Given the description of an element on the screen output the (x, y) to click on. 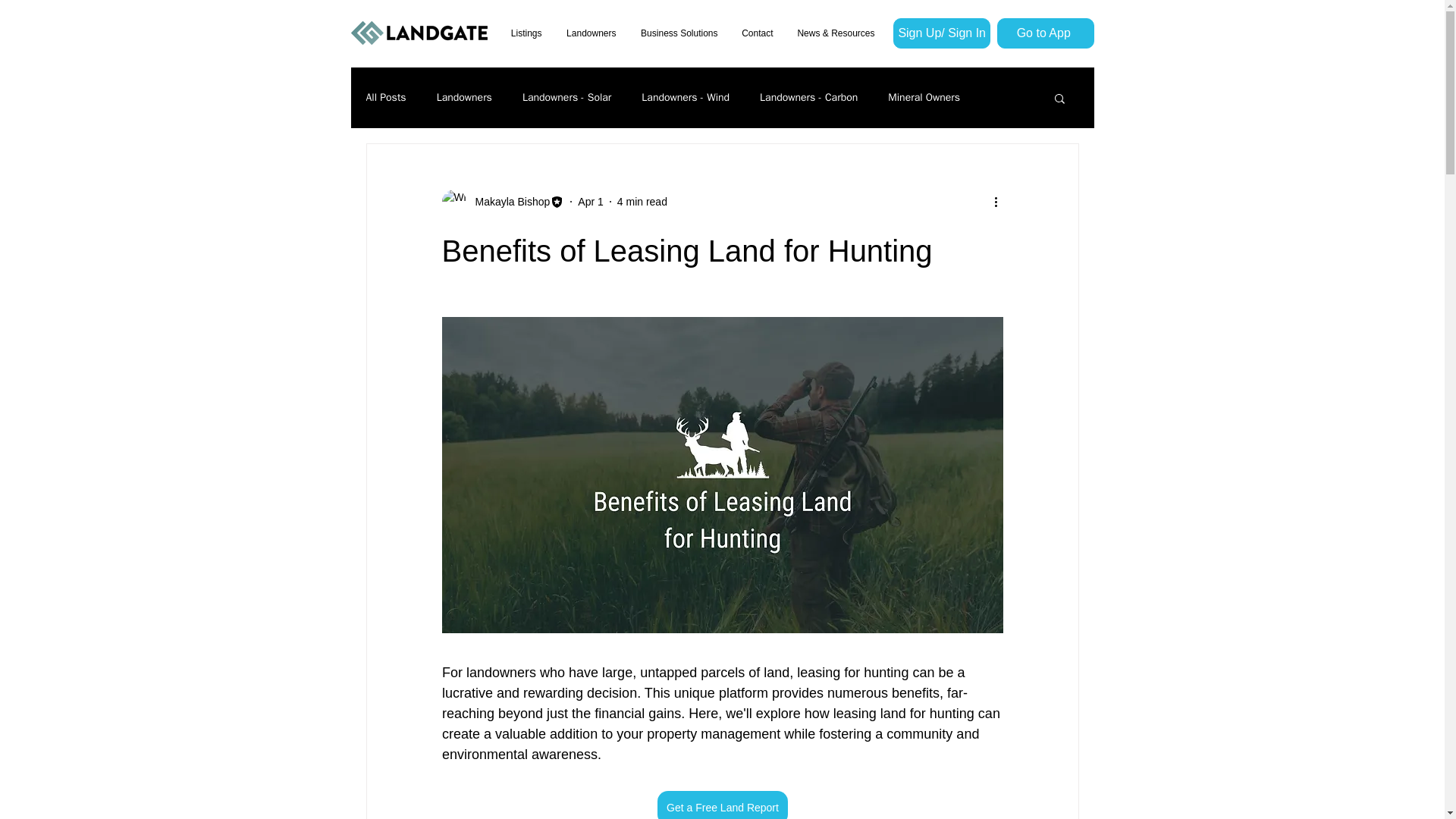
4 min read (641, 201)
Landowners - Wind (685, 97)
Mineral Owners (923, 97)
Landowners (590, 33)
All Posts (385, 97)
Makayla Bishop (507, 201)
Go to App (1044, 33)
Landowners - Carbon (808, 97)
Landowners - Solar (566, 97)
Business Solutions (678, 33)
